Given the description of an element on the screen output the (x, y) to click on. 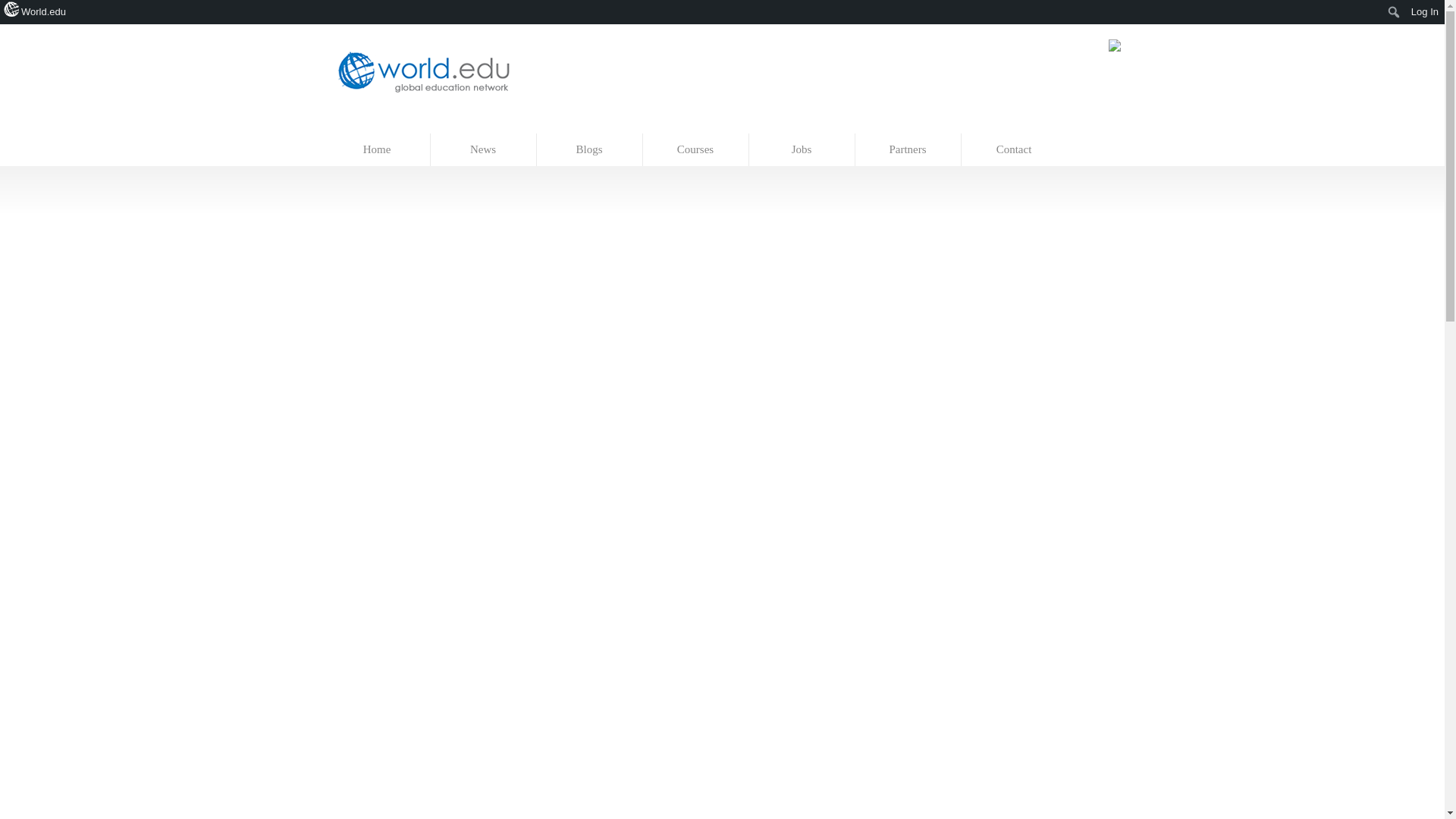
Skip to content (357, 125)
Partners (908, 149)
Skip to content (357, 125)
Jobs (802, 149)
Blogs (590, 149)
Contact (1013, 149)
Courses (696, 149)
News (483, 149)
Home (377, 149)
